Given the description of an element on the screen output the (x, y) to click on. 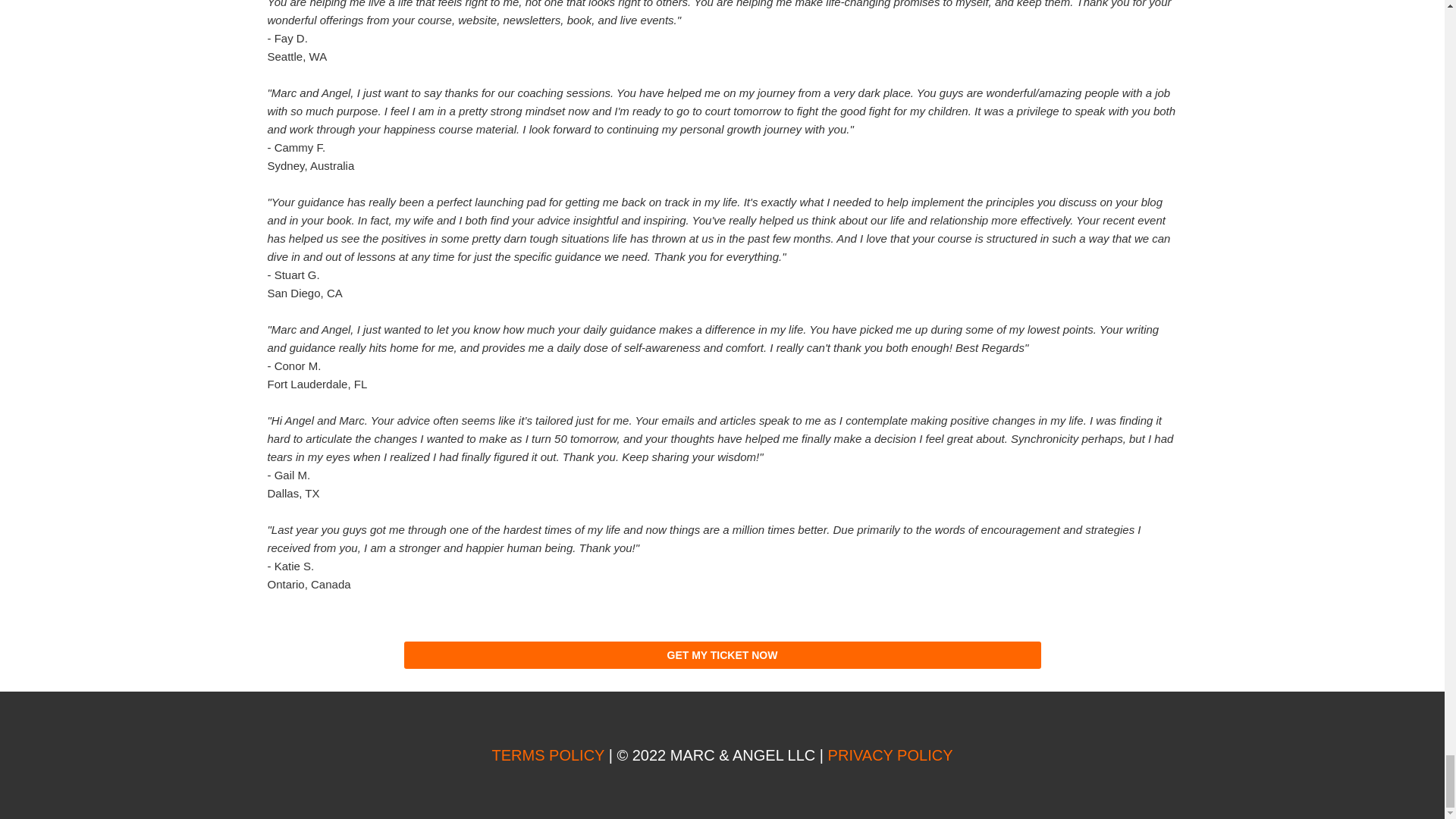
GET MY TICKET NOW (722, 655)
TERMS POLICY (548, 754)
PRIVACY POLICY (890, 754)
